Given the description of an element on the screen output the (x, y) to click on. 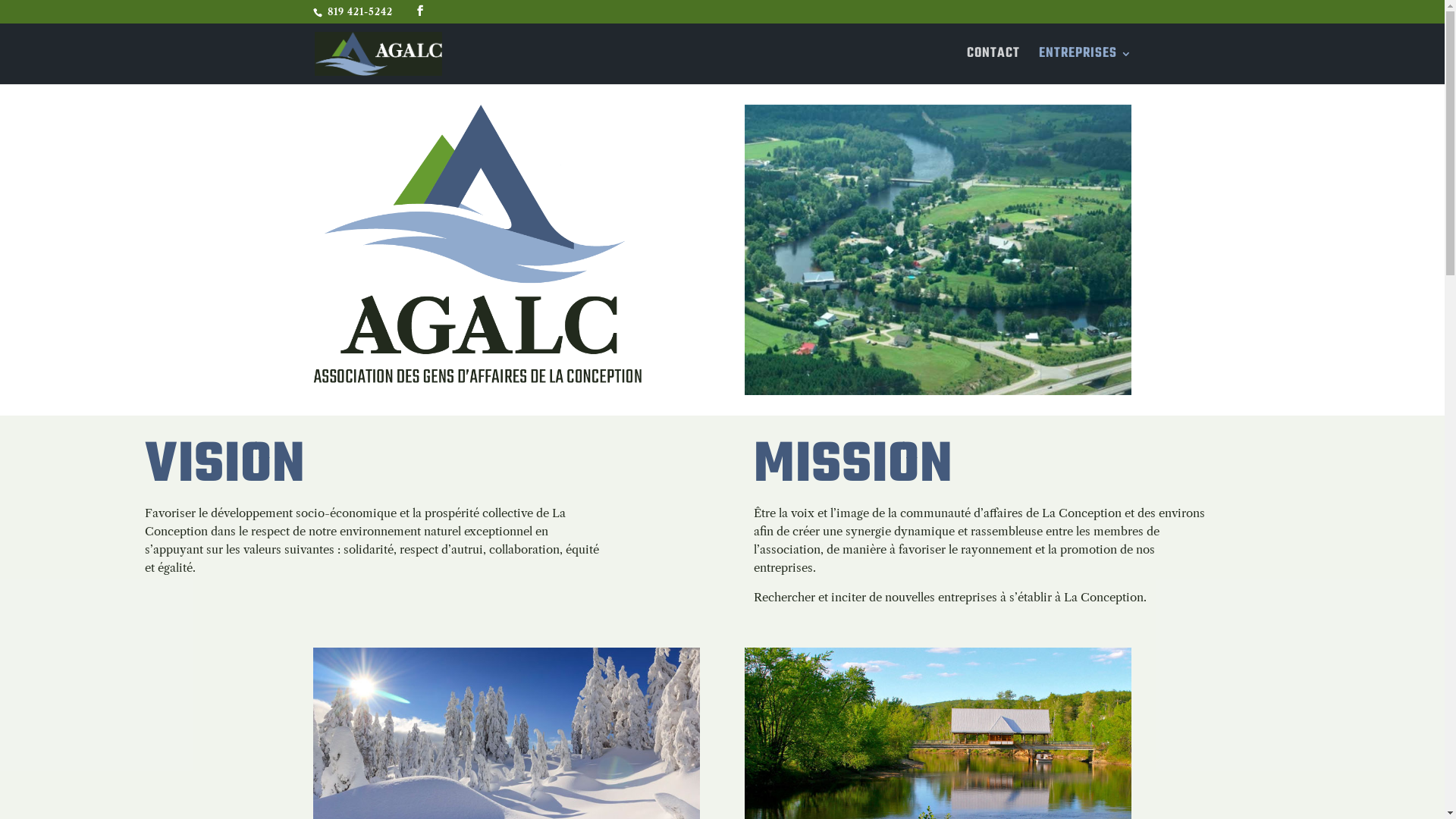
AGALC.logo.vertical.fond.blanc770X652 Element type: hover (476, 243)
la-conception-aerienne Element type: hover (937, 249)
CONTACT Element type: text (992, 66)
ENTREPRISES Element type: text (1085, 66)
